Given the description of an element on the screen output the (x, y) to click on. 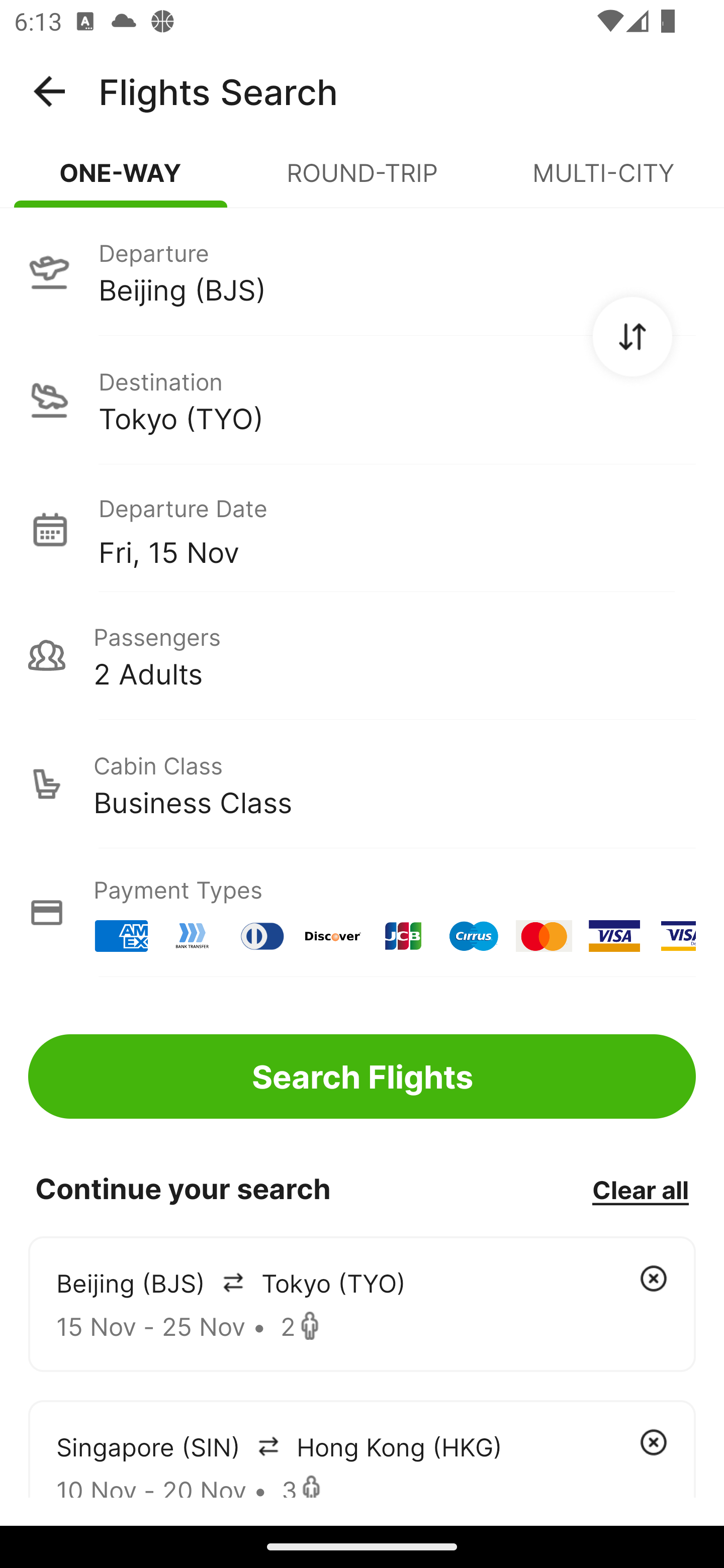
ONE-WAY (120, 180)
ROUND-TRIP (361, 180)
MULTI-CITY (603, 180)
Departure Beijing (BJS) (362, 270)
Destination Tokyo (TYO) (362, 400)
Departure Date Fri, 15 Nov (396, 528)
Passengers 2 Adults (362, 655)
Cabin Class Business Class (362, 783)
Payment Types (362, 912)
Search Flights (361, 1075)
Clear all (640, 1189)
